Given the description of an element on the screen output the (x, y) to click on. 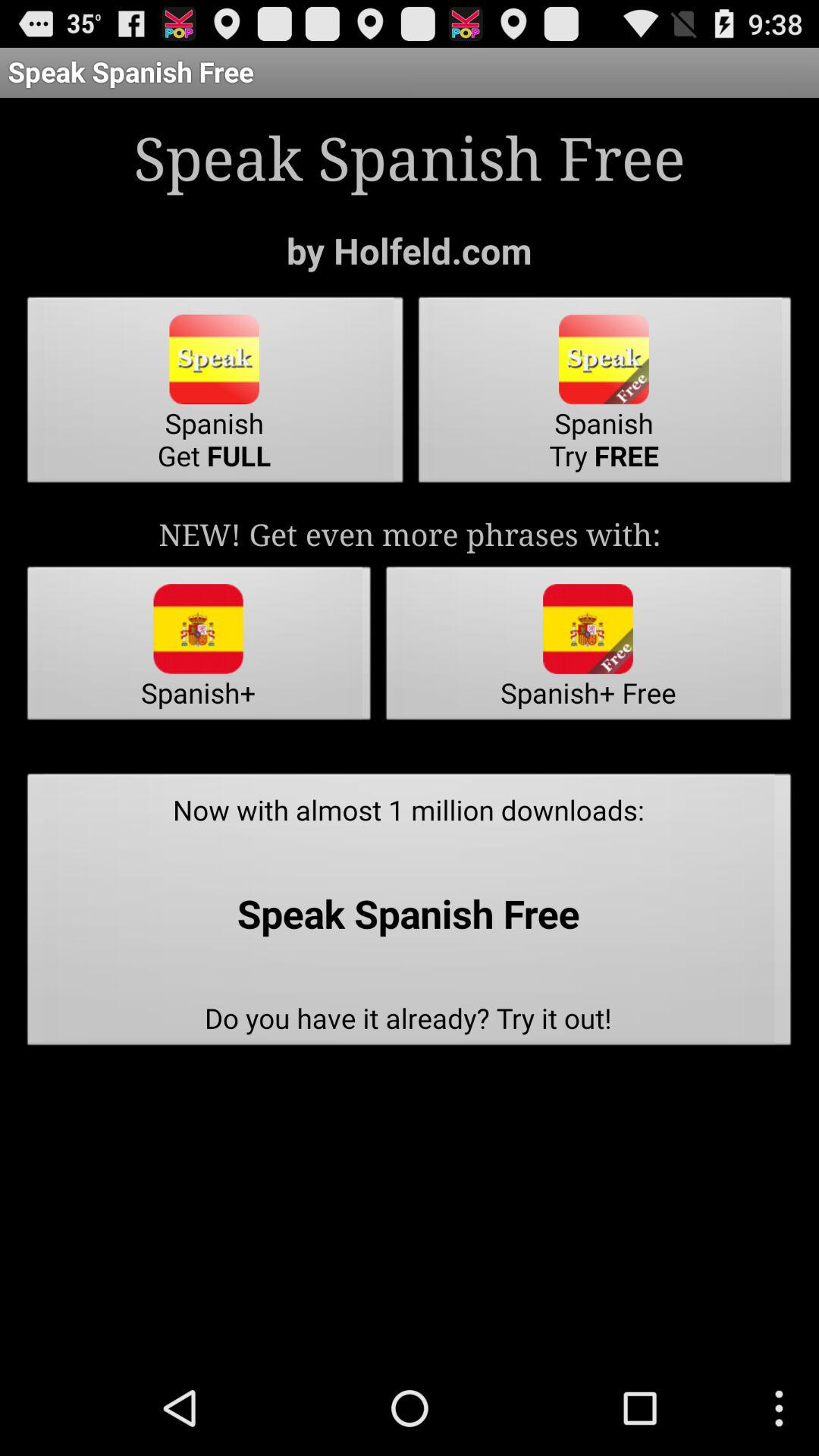
turn off spanish
get full at the top left corner (215, 394)
